Given the description of an element on the screen output the (x, y) to click on. 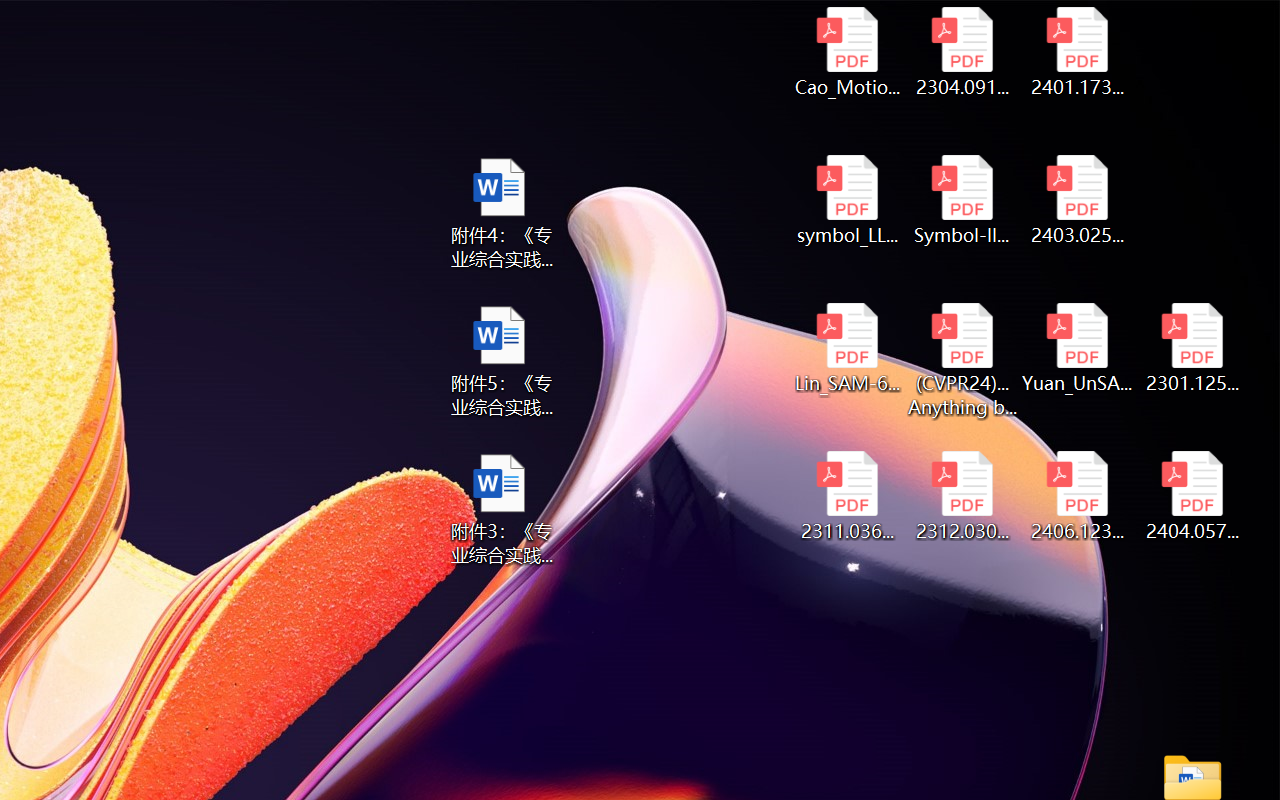
symbol_LLM.pdf (846, 200)
